Given the description of an element on the screen output the (x, y) to click on. 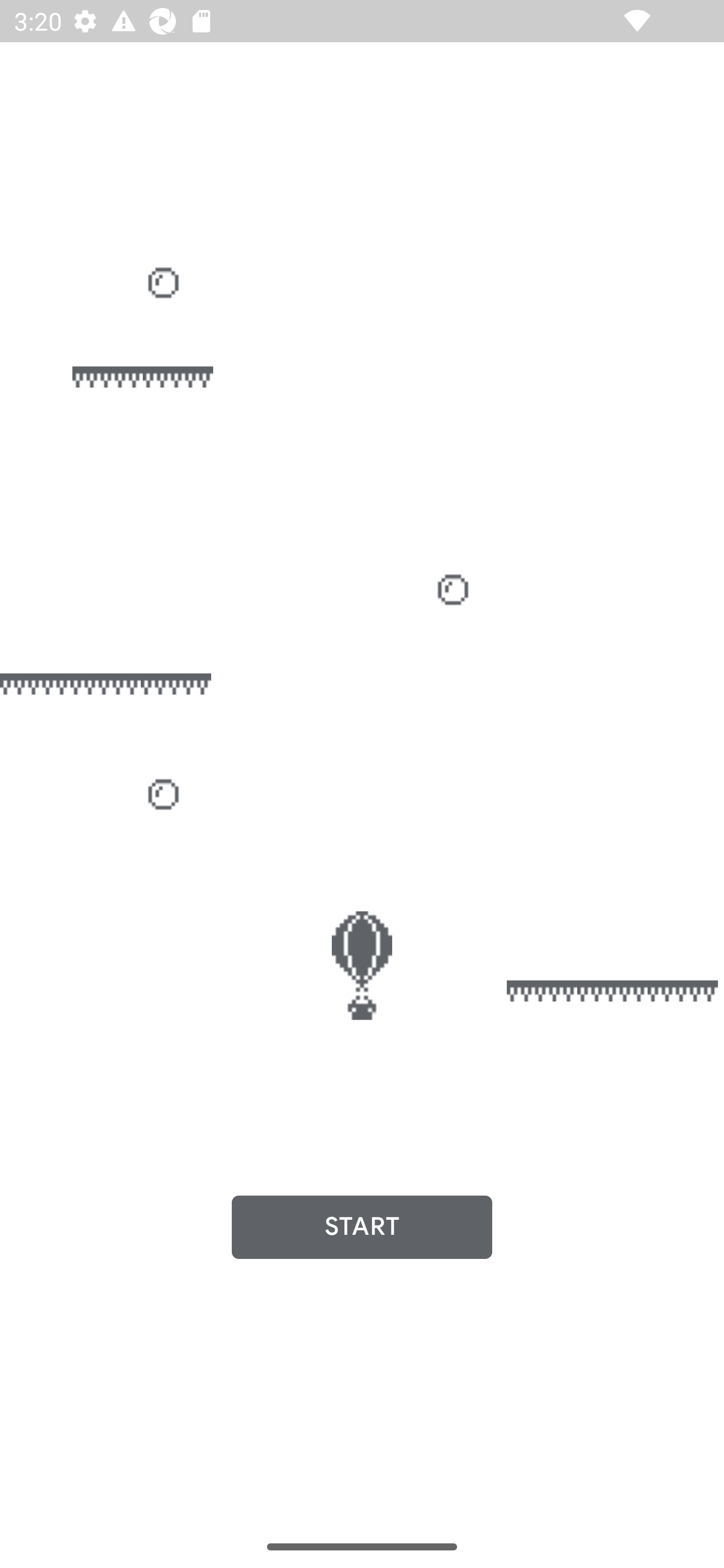
START (361, 1227)
